Given the description of an element on the screen output the (x, y) to click on. 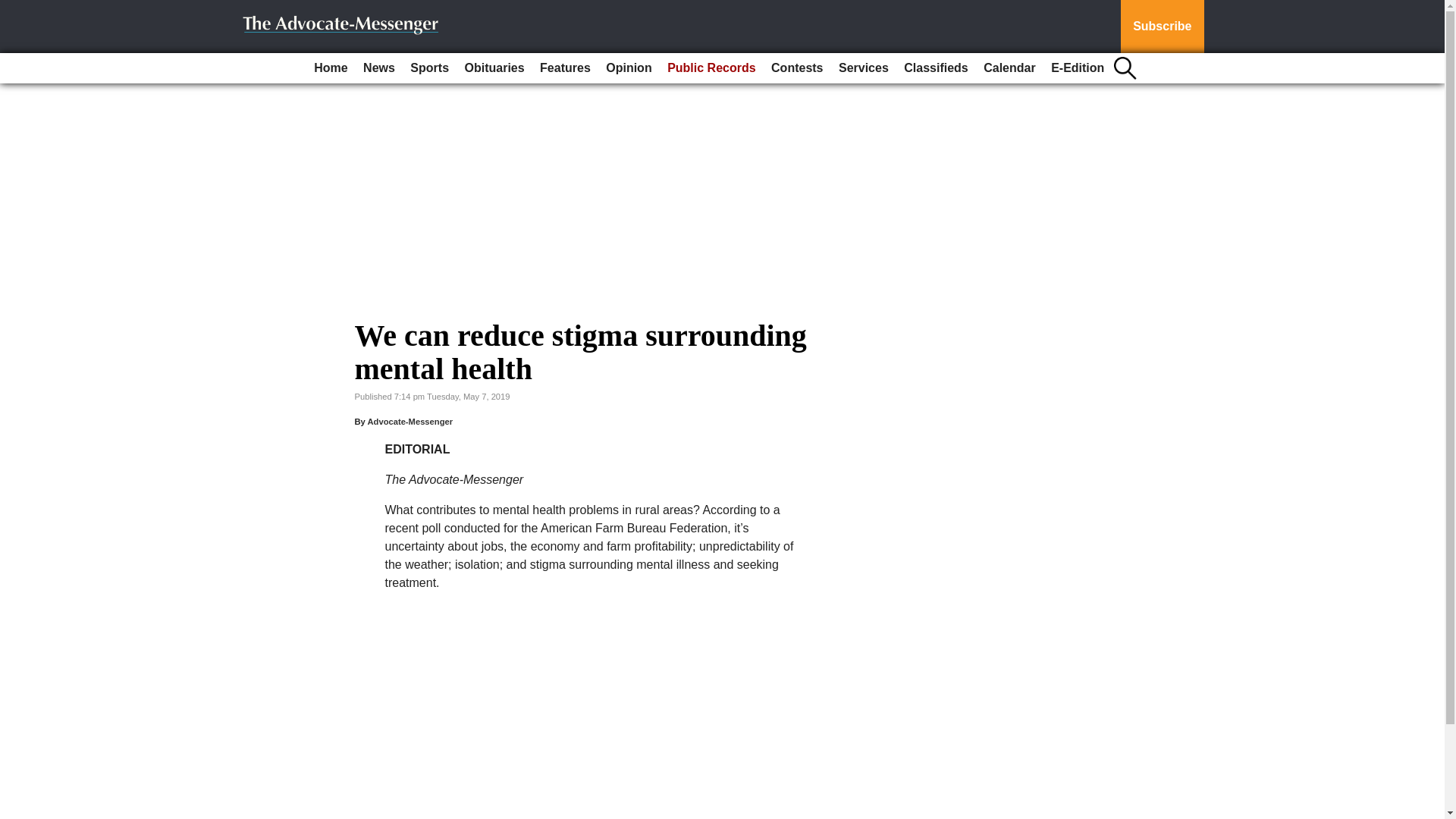
Public Records (711, 68)
E-Edition (1077, 68)
Sports (429, 68)
Calendar (1008, 68)
News (378, 68)
Obituaries (493, 68)
Advocate-Messenger (409, 420)
Subscribe (1162, 26)
Features (565, 68)
Go (13, 9)
Services (863, 68)
Contests (796, 68)
Opinion (628, 68)
Classifieds (936, 68)
Home (330, 68)
